Given the description of an element on the screen output the (x, y) to click on. 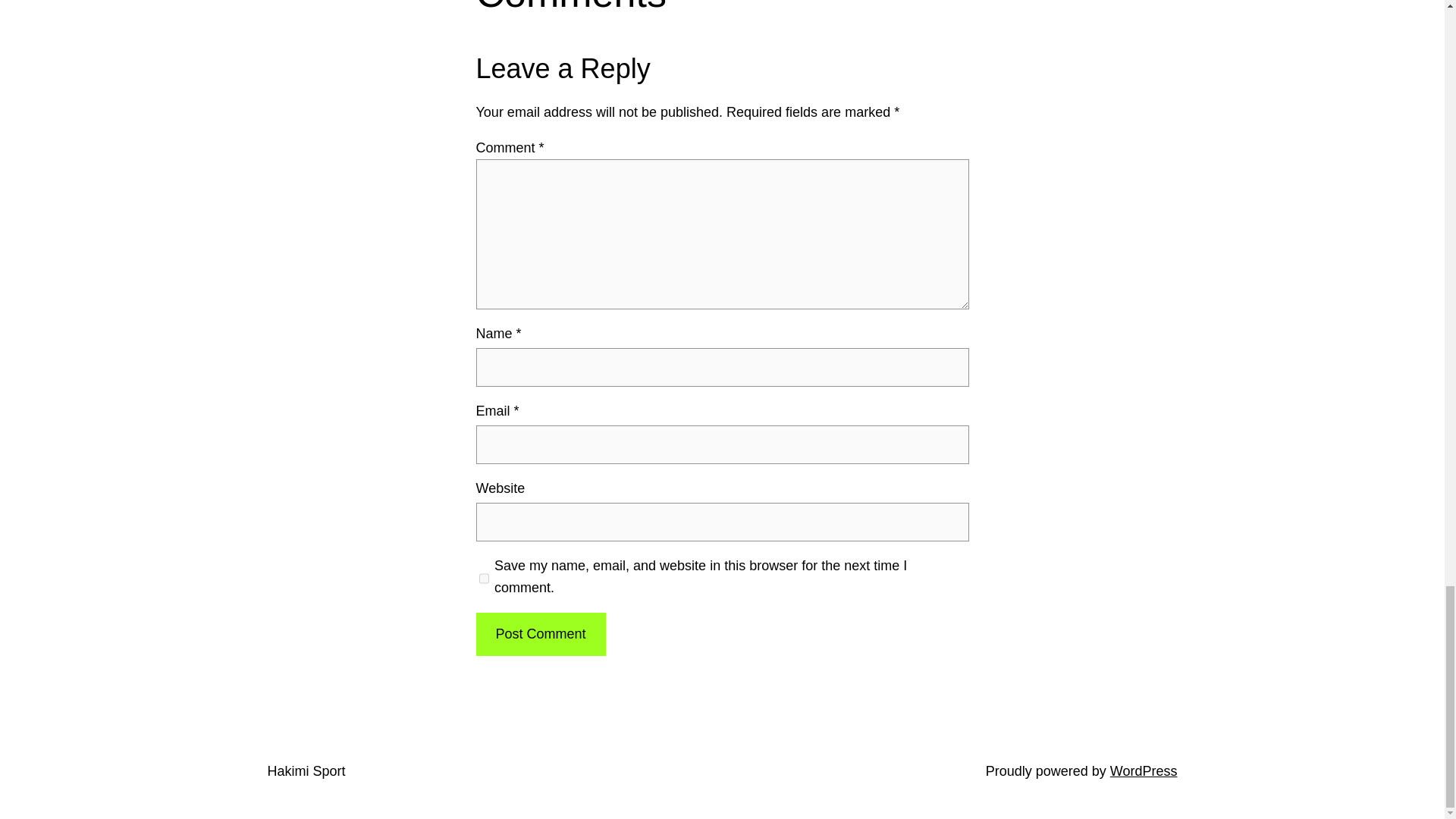
Hakimi Sport (305, 770)
WordPress (1143, 770)
Post Comment (540, 634)
Post Comment (540, 634)
